Given the description of an element on the screen output the (x, y) to click on. 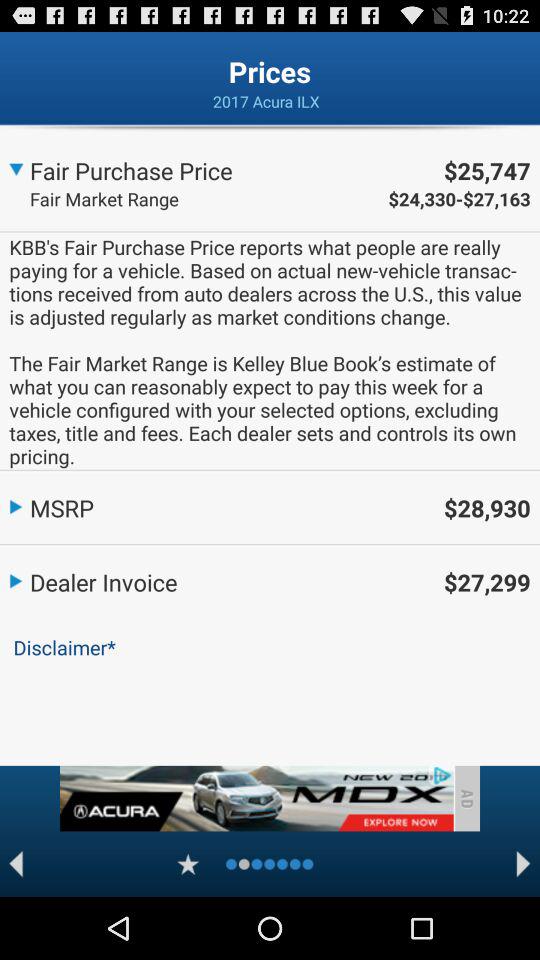
go to advertising site (256, 798)
